Given the description of an element on the screen output the (x, y) to click on. 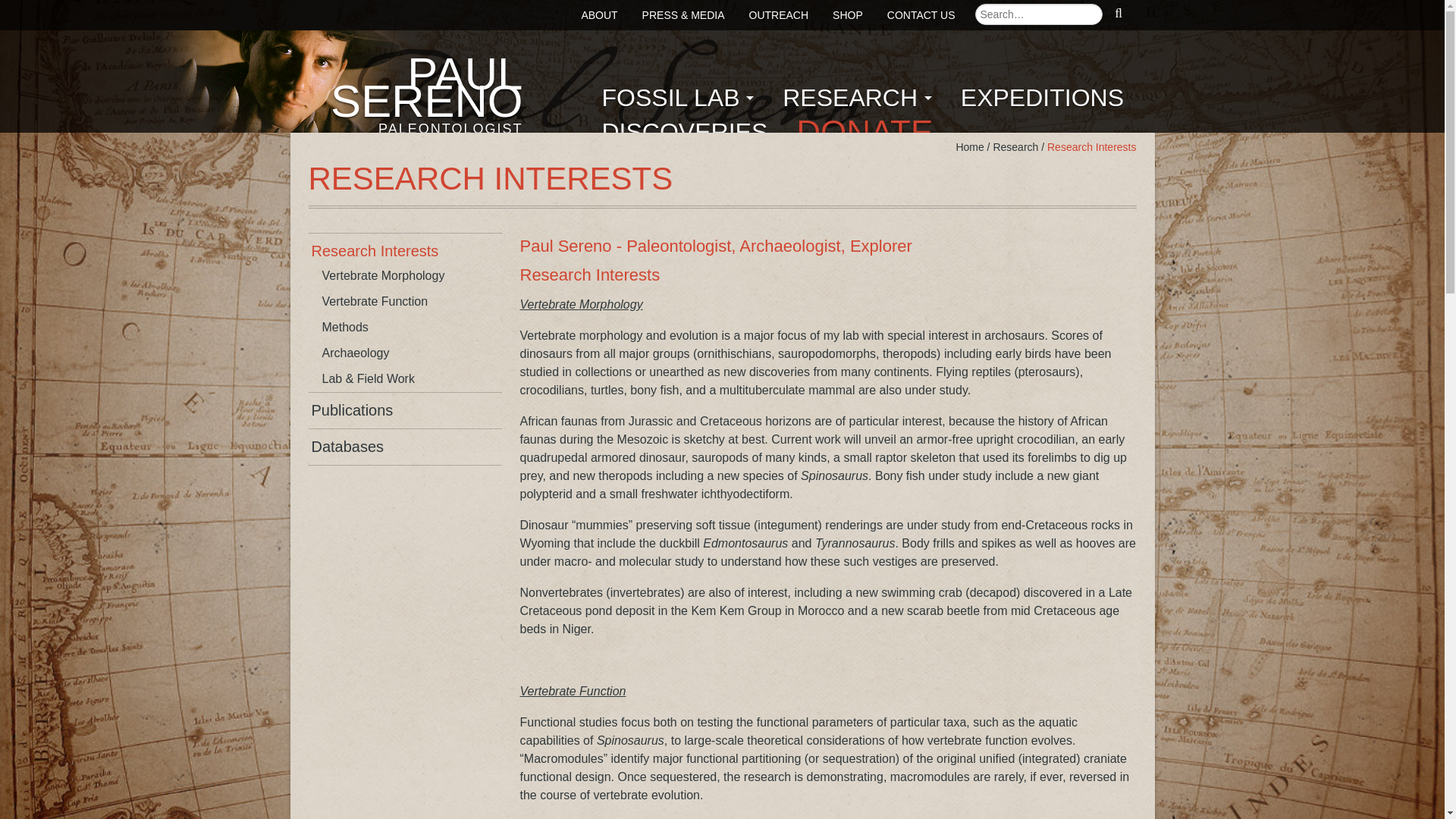
DISCOVERIES (418, 101)
Paul Sereno Paleontologist (683, 132)
DONATE (418, 101)
ABOUT (863, 132)
SHOP (598, 14)
CONTACT US (848, 14)
EXPEDITIONS (921, 14)
Home (1042, 98)
OUTREACH (969, 146)
